Given the description of an element on the screen output the (x, y) to click on. 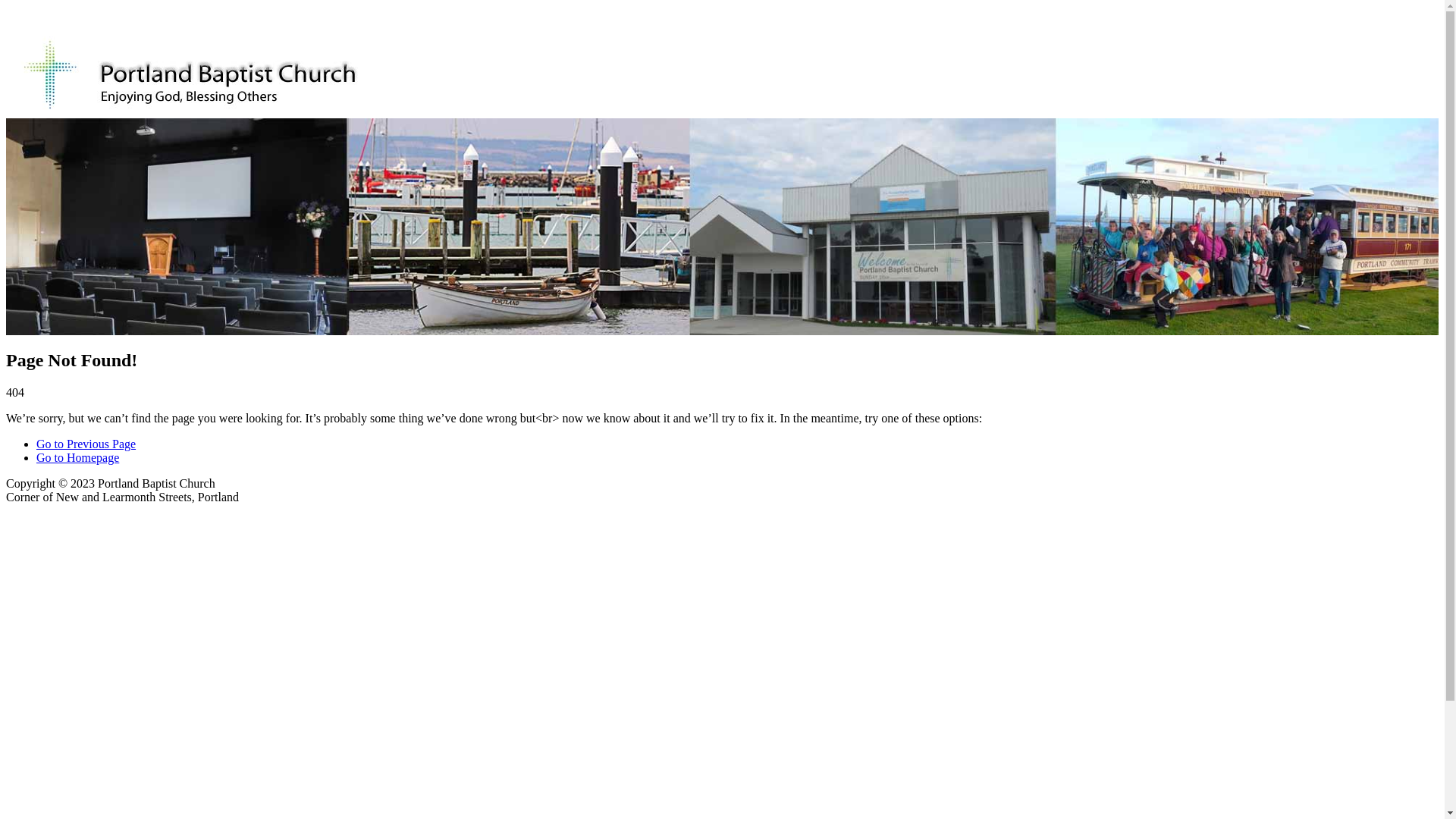
Bulletins Element type: text (390, 21)
Porland Baptist Church Element type: text (130, 147)
Go to Previous Page Element type: text (85, 443)
Events Element type: text (298, 21)
Alt slideshow Jan 2020 Element type: hover (722, 226)
About Element type: text (99, 21)
Ministries Element type: text (165, 21)
Contact Us Element type: text (448, 21)
FAQ Element type: text (346, 21)
Our Church Element type: text (39, 21)
Go to Homepage Element type: text (77, 457)
Sermons Element type: text (235, 21)
